Given the description of an element on the screen output the (x, y) to click on. 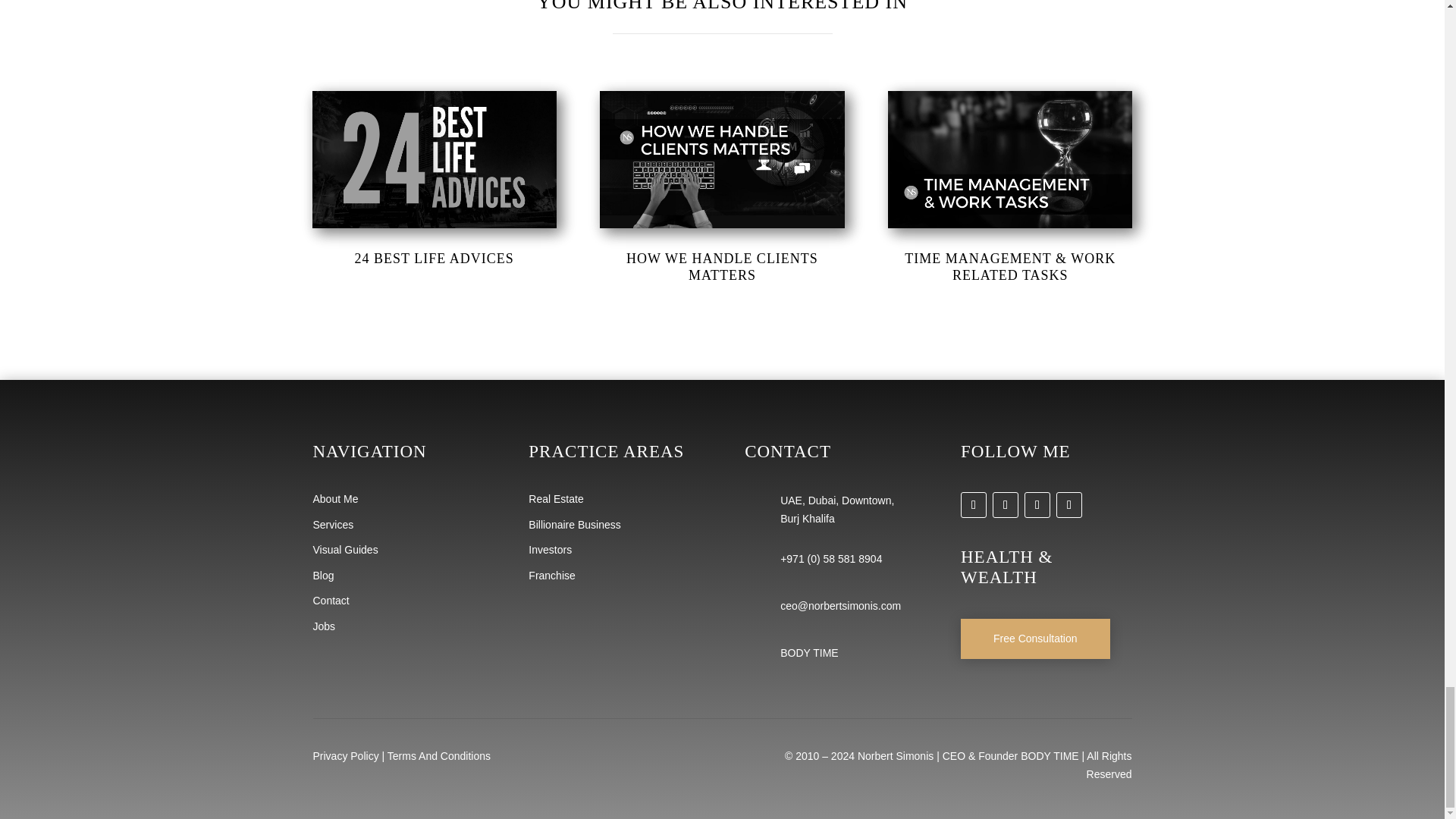
Follow on LinkedIn (1069, 504)
Follow on Instagram (1037, 504)
Follow on Youtube (1004, 504)
BODY TIME (809, 653)
Follow on Facebook (973, 504)
